Given the description of an element on the screen output the (x, y) to click on. 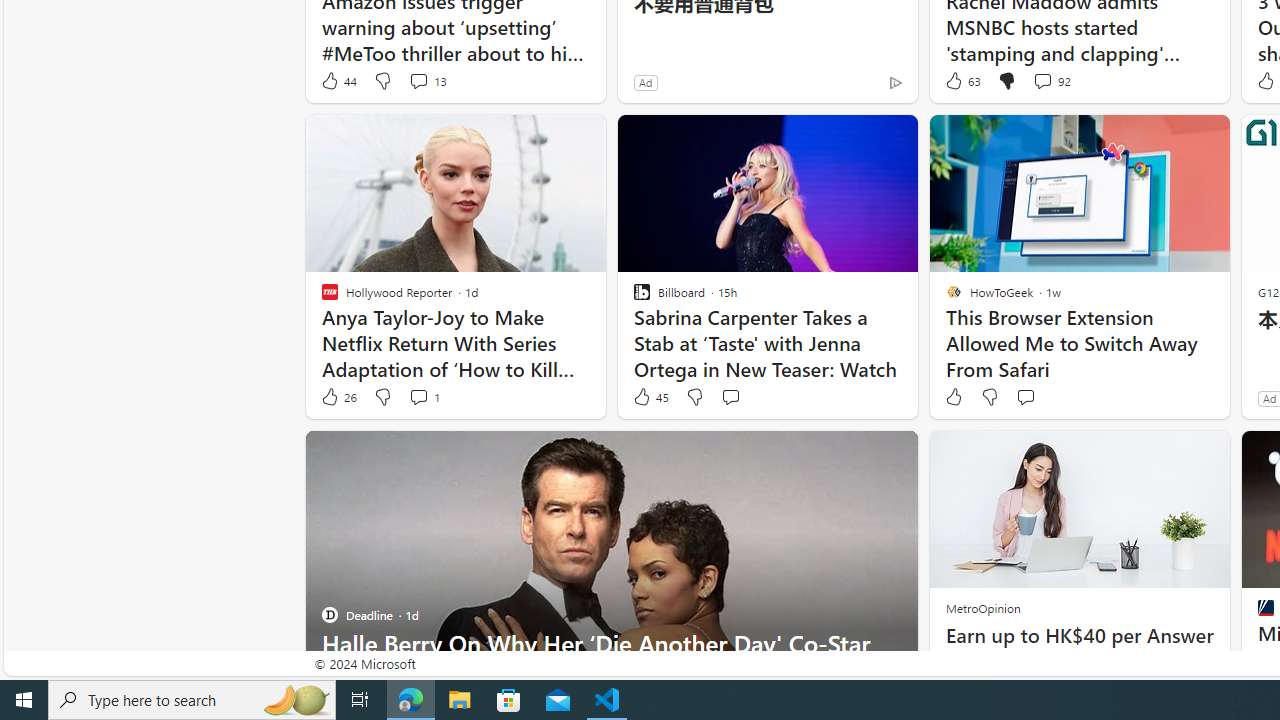
View comments 92 Comment (1051, 80)
Earn up to HK$40 per Answer (1078, 636)
View comments 92 Comment (1042, 80)
44 Like (337, 80)
45 Like (650, 397)
View comments 13 Comment (426, 80)
Hide this story (857, 454)
63 Like (961, 80)
MetroOpinion (982, 607)
